Given the description of an element on the screen output the (x, y) to click on. 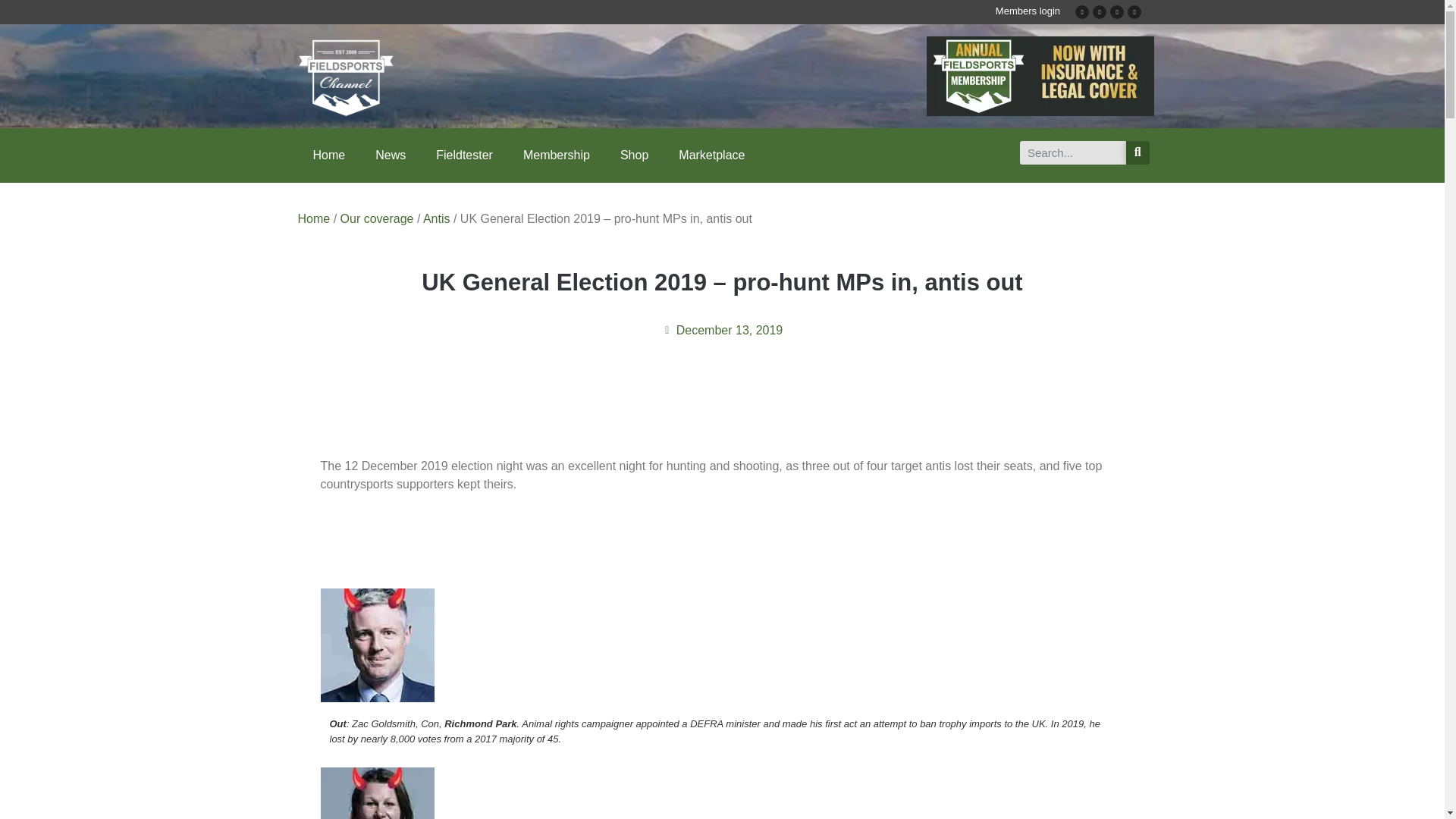
Membership (556, 155)
Home (328, 155)
Fieldtester (464, 155)
Shop (634, 155)
News (389, 155)
Marketplace (711, 155)
Members login (1027, 10)
